Given the description of an element on the screen output the (x, y) to click on. 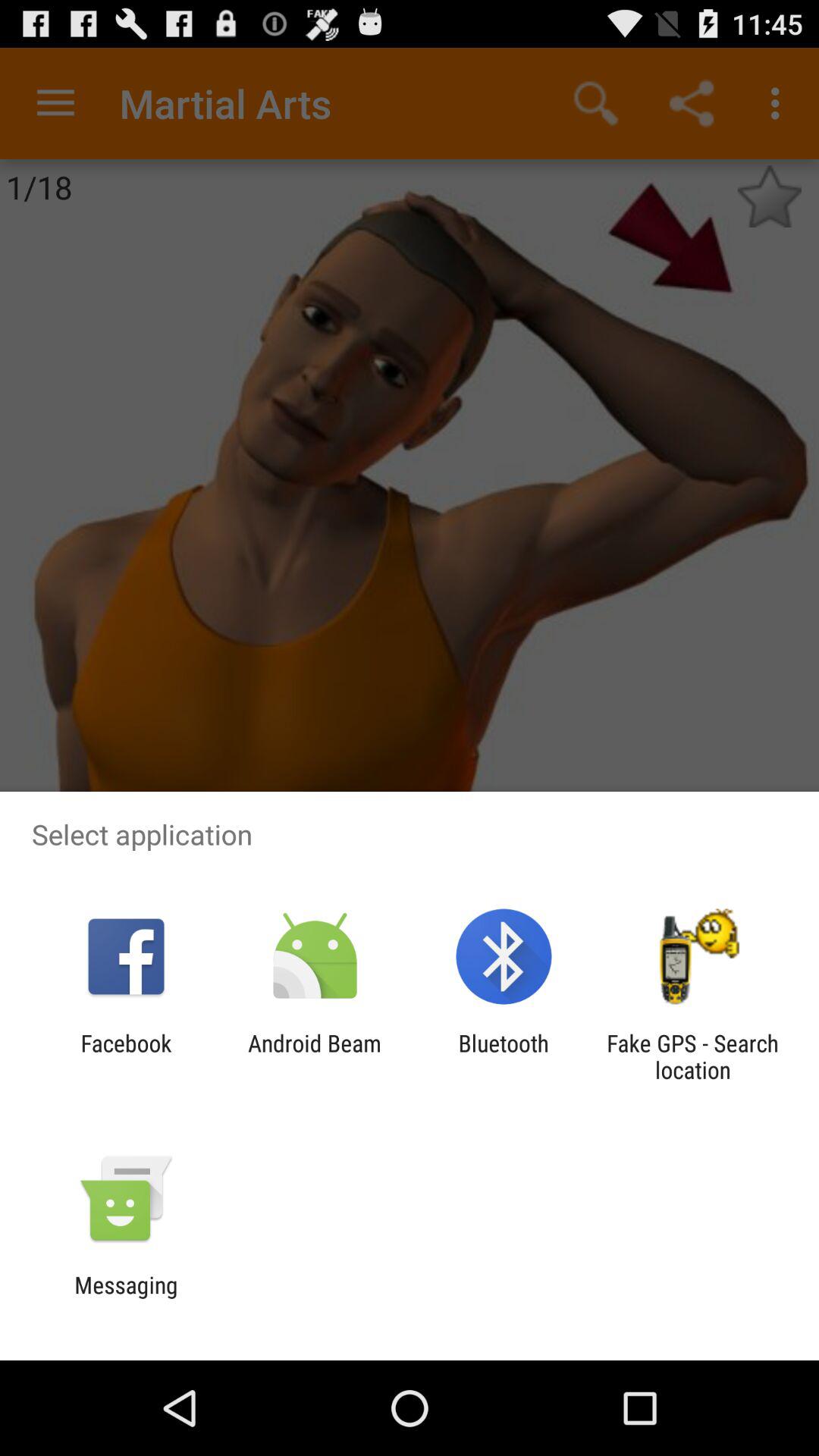
flip to the fake gps search app (692, 1056)
